Given the description of an element on the screen output the (x, y) to click on. 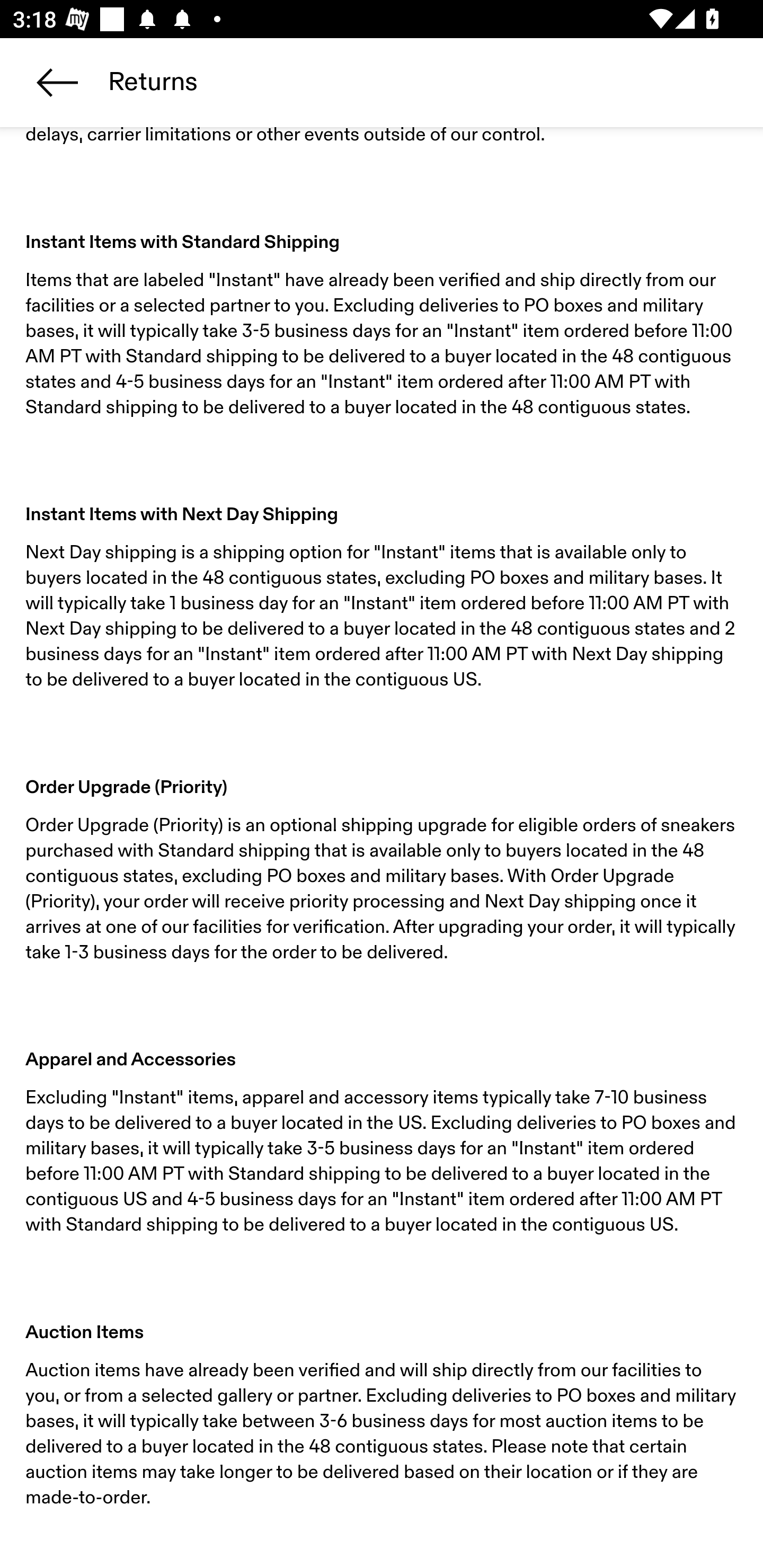
Navigate up (56, 82)
